Given the description of an element on the screen output the (x, y) to click on. 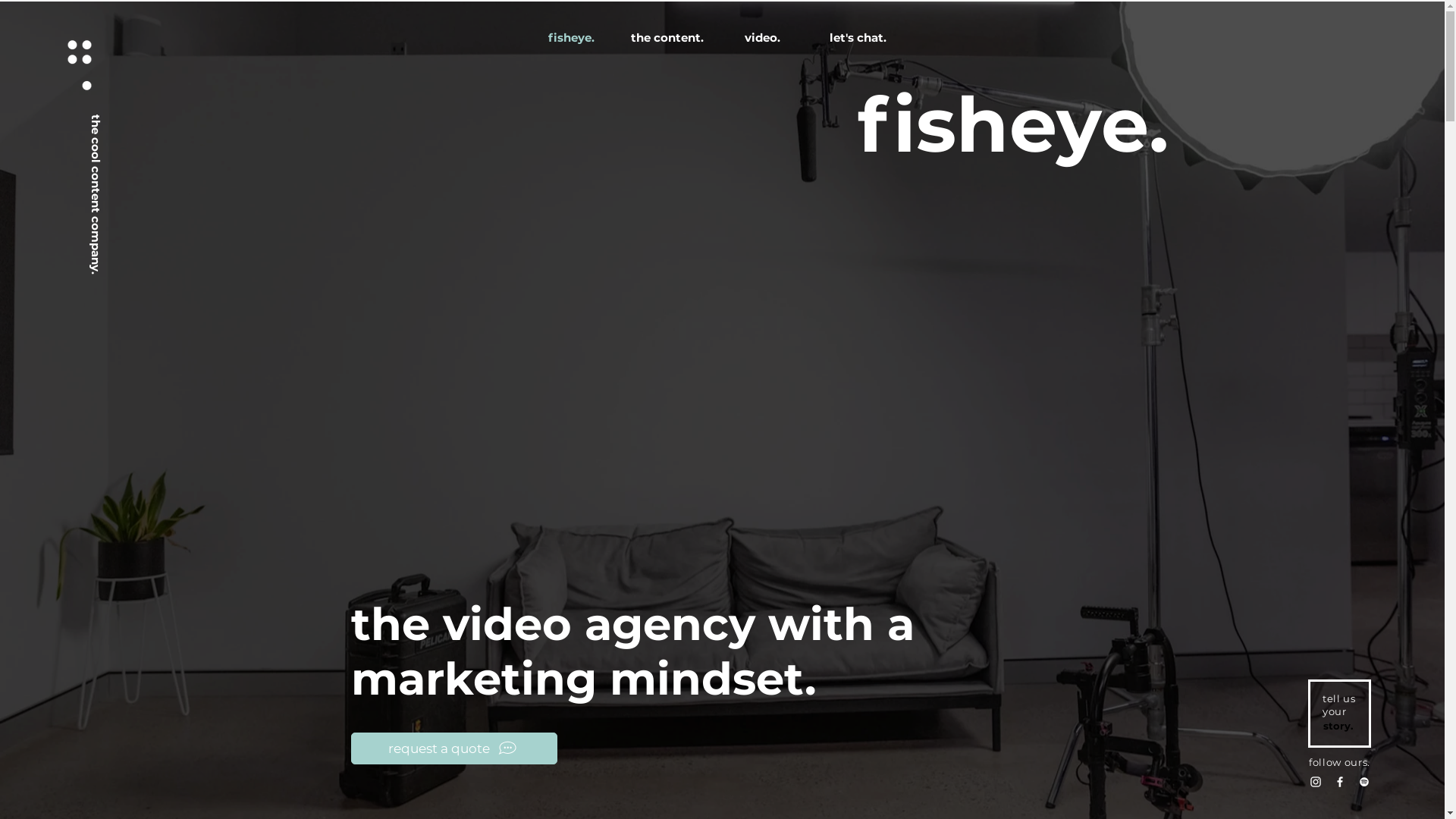
story. Element type: text (1337, 725)
fisheye. Element type: text (570, 37)
the content. Element type: text (666, 37)
request a quote Element type: text (453, 748)
let's chat. Element type: text (857, 37)
the cool content company. Element type: text (165, 124)
